Given the description of an element on the screen output the (x, y) to click on. 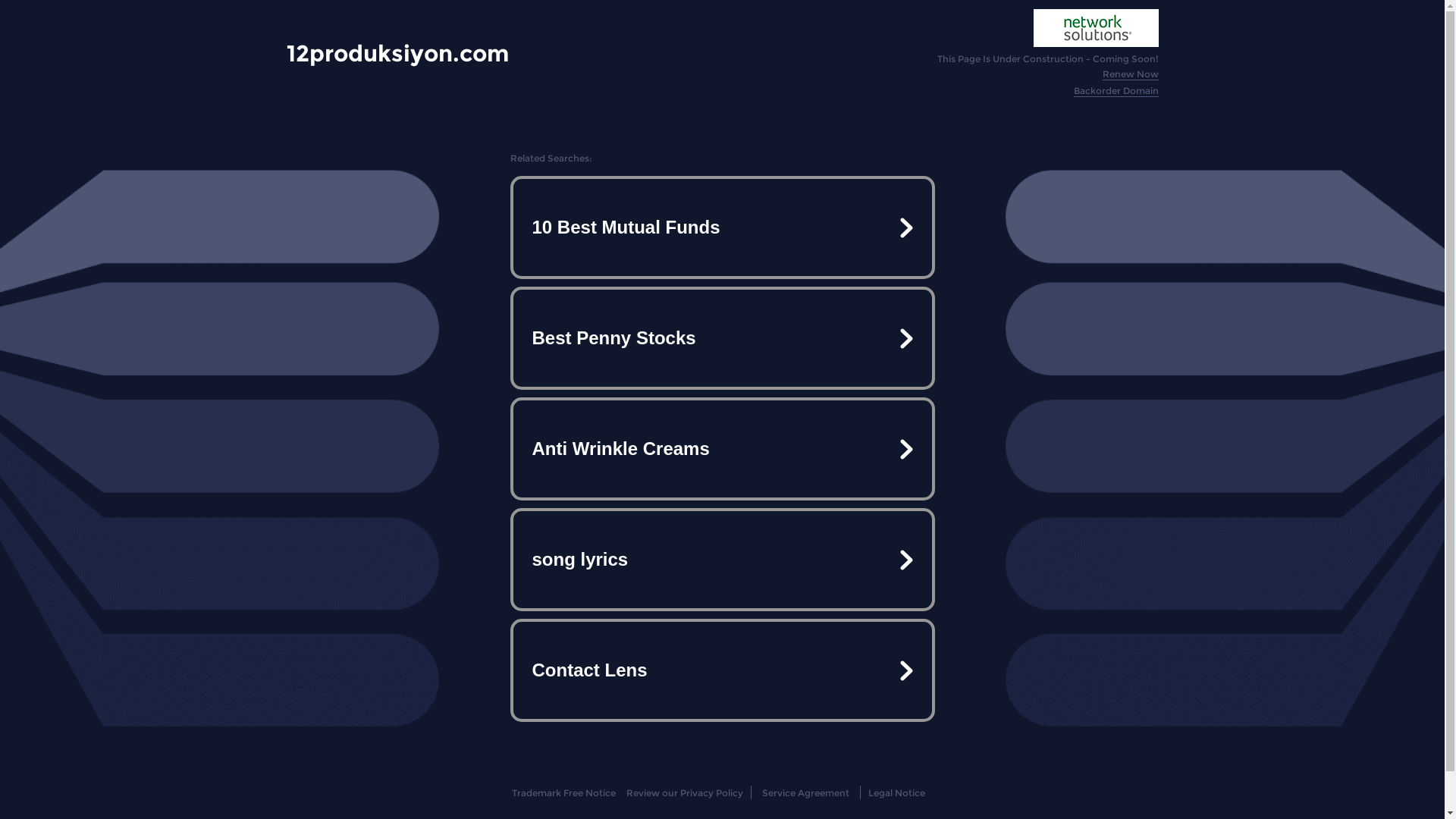
song lyrics Element type: text (721, 559)
Service Agreement Element type: text (805, 792)
Best Penny Stocks Element type: text (721, 337)
Backorder Domain Element type: text (1115, 90)
Trademark Free Notice Element type: text (563, 792)
Contact Lens Element type: text (721, 669)
10 Best Mutual Funds Element type: text (721, 227)
Review our Privacy Policy Element type: text (684, 792)
Renew Now Element type: text (1130, 74)
12produksiyon.com Element type: text (397, 53)
Anti Wrinkle Creams Element type: text (721, 448)
Legal Notice Element type: text (896, 792)
